Given the description of an element on the screen output the (x, y) to click on. 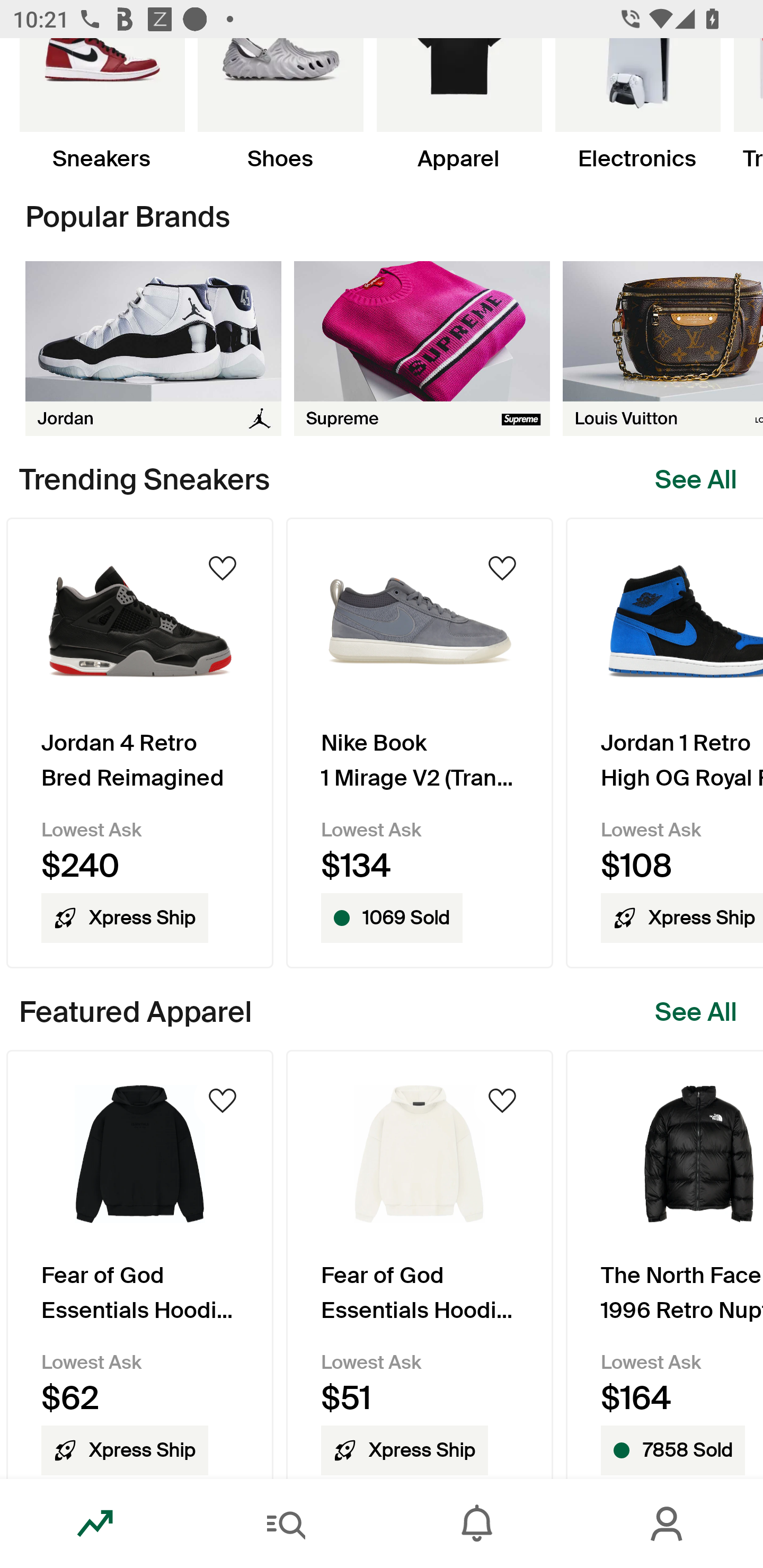
Product Image Sneakers (101, 104)
Product Image Shoes (280, 104)
Product Image Apparel (458, 104)
Product Image Electronics (637, 104)
jordan.jpg (153, 348)
supreme.jpg (421, 348)
lv.jpg (663, 348)
See All (695, 480)
See All (695, 1011)
Search (285, 1523)
Inbox (476, 1523)
Account (667, 1523)
